Given the description of an element on the screen output the (x, y) to click on. 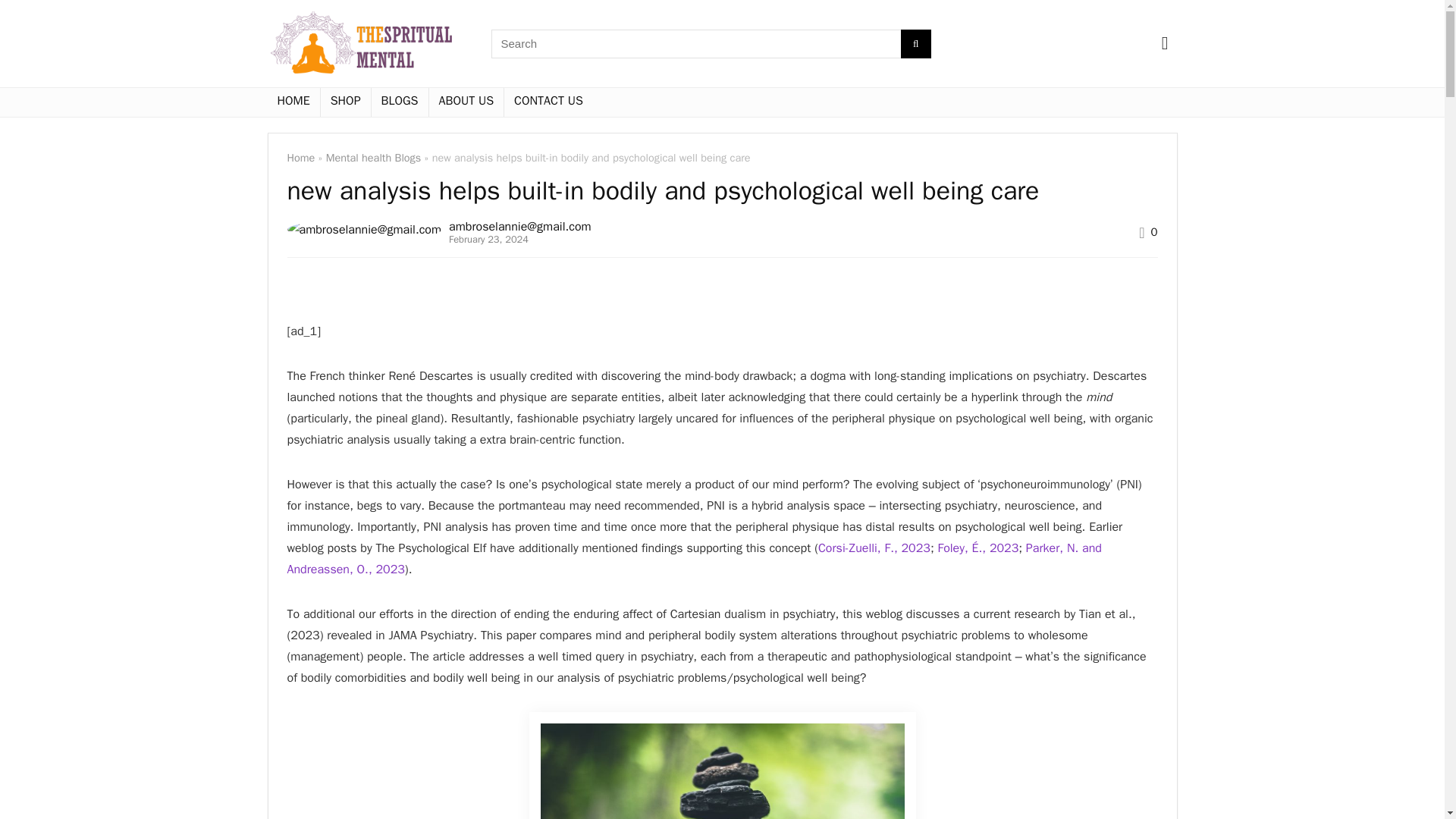
Home (300, 157)
Parker, N. and Andreassen, O., 2023 (693, 558)
CONTACT US (547, 102)
ABOUT US (466, 102)
HOME (292, 102)
Corsi-Zuelli, F., 2023 (874, 548)
SHOP (345, 102)
BLOGS (399, 102)
Mental health Blogs (374, 157)
